Given the description of an element on the screen output the (x, y) to click on. 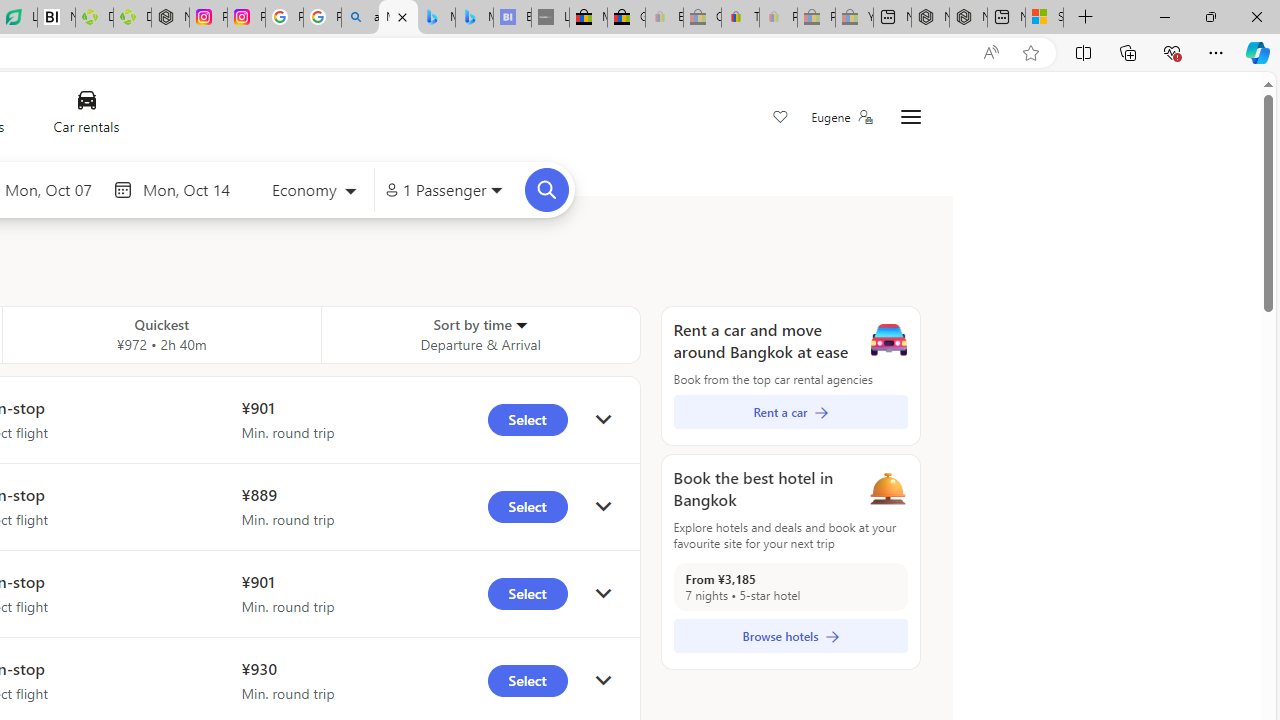
1 Passenger (443, 189)
Microsoft Bing Travel - Shangri-La Hotel Bangkok (473, 17)
Browse hotels (790, 636)
Rent a car (790, 412)
click to get details (603, 680)
Sorter (520, 324)
Search (546, 189)
